Given the description of an element on the screen output the (x, y) to click on. 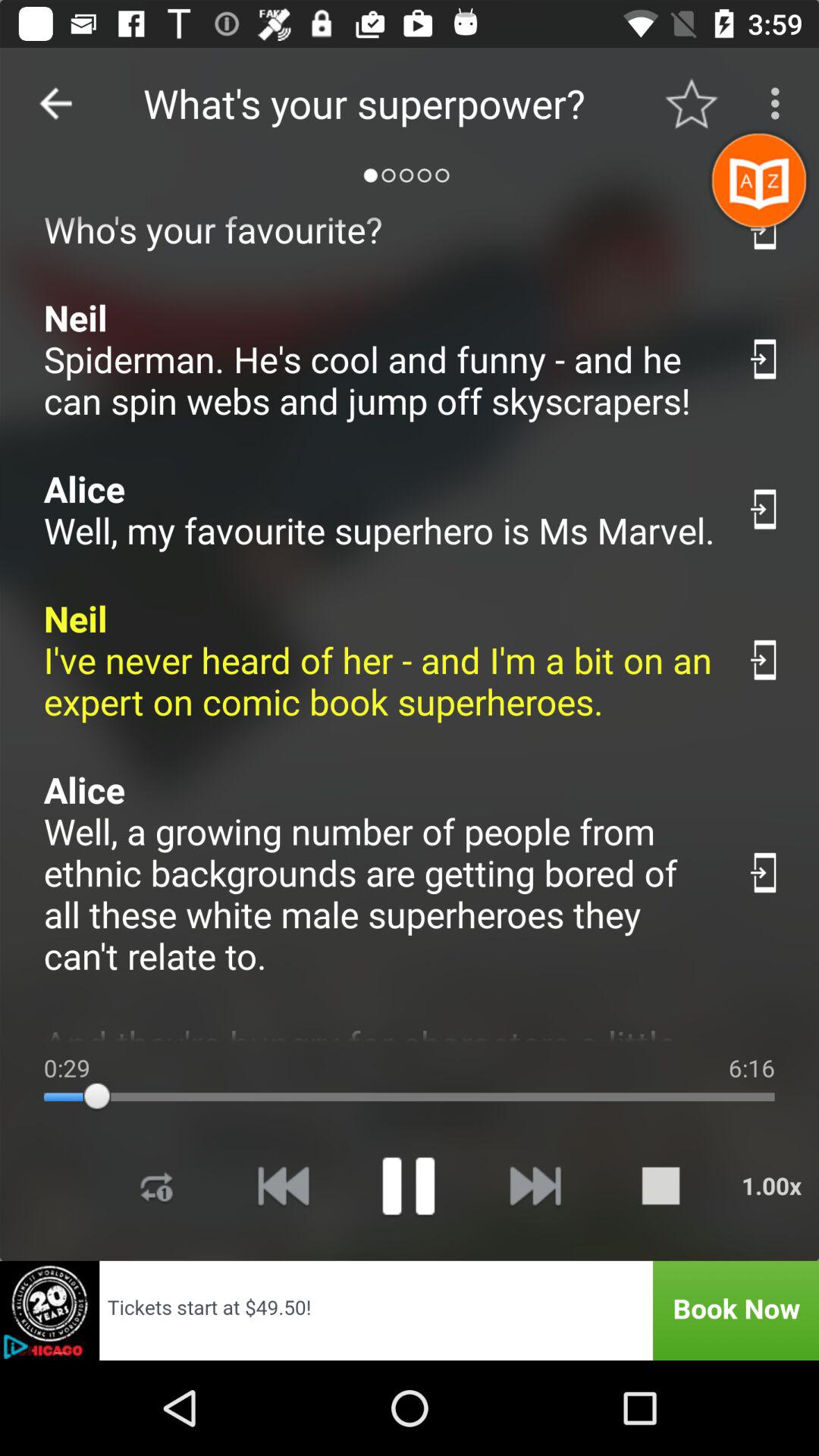
select this post (765, 509)
